Given the description of an element on the screen output the (x, y) to click on. 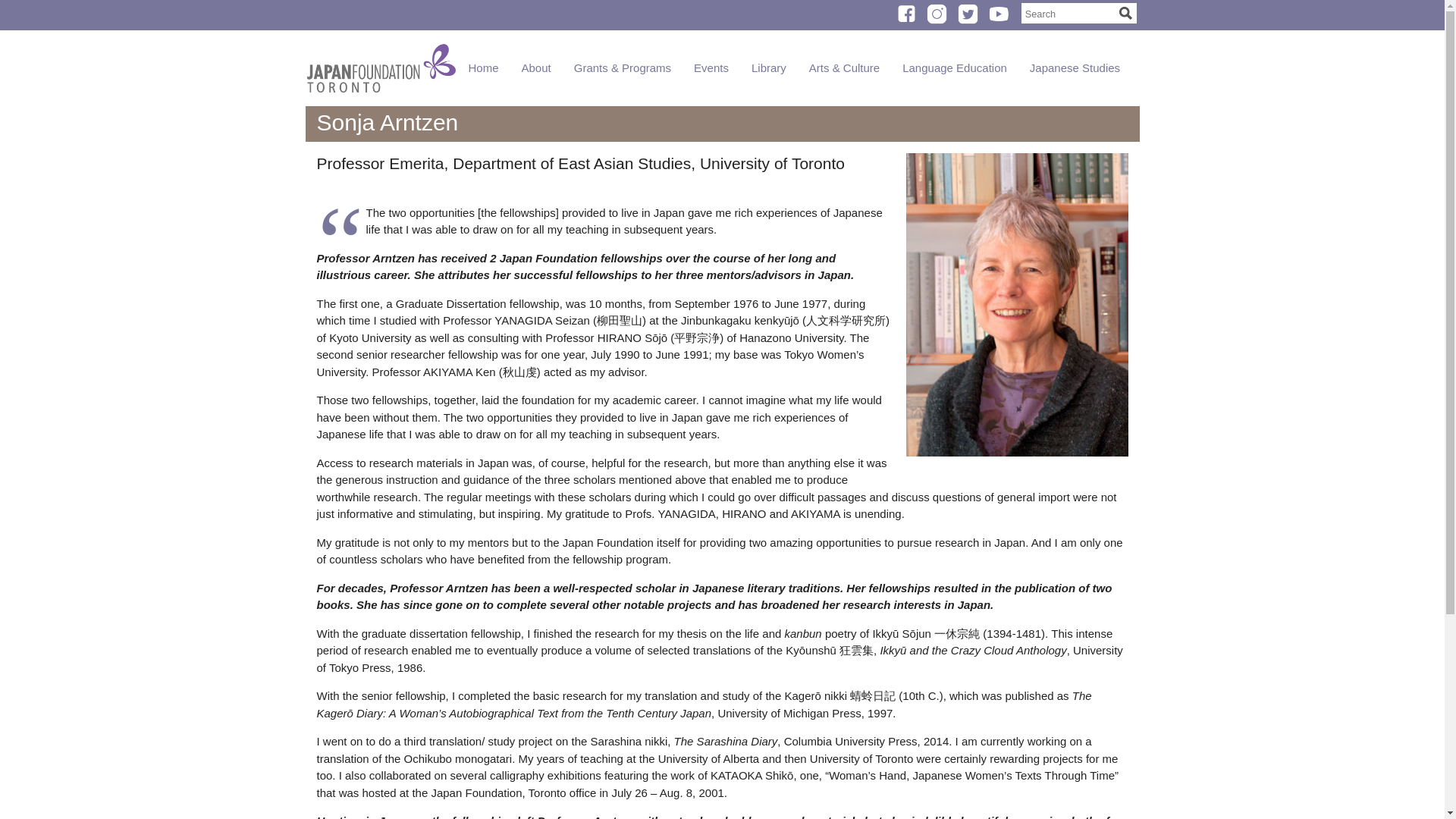
Events (559, 18)
About (384, 18)
Language Education (802, 18)
Home (331, 18)
Library (617, 18)
